Given the description of an element on the screen output the (x, y) to click on. 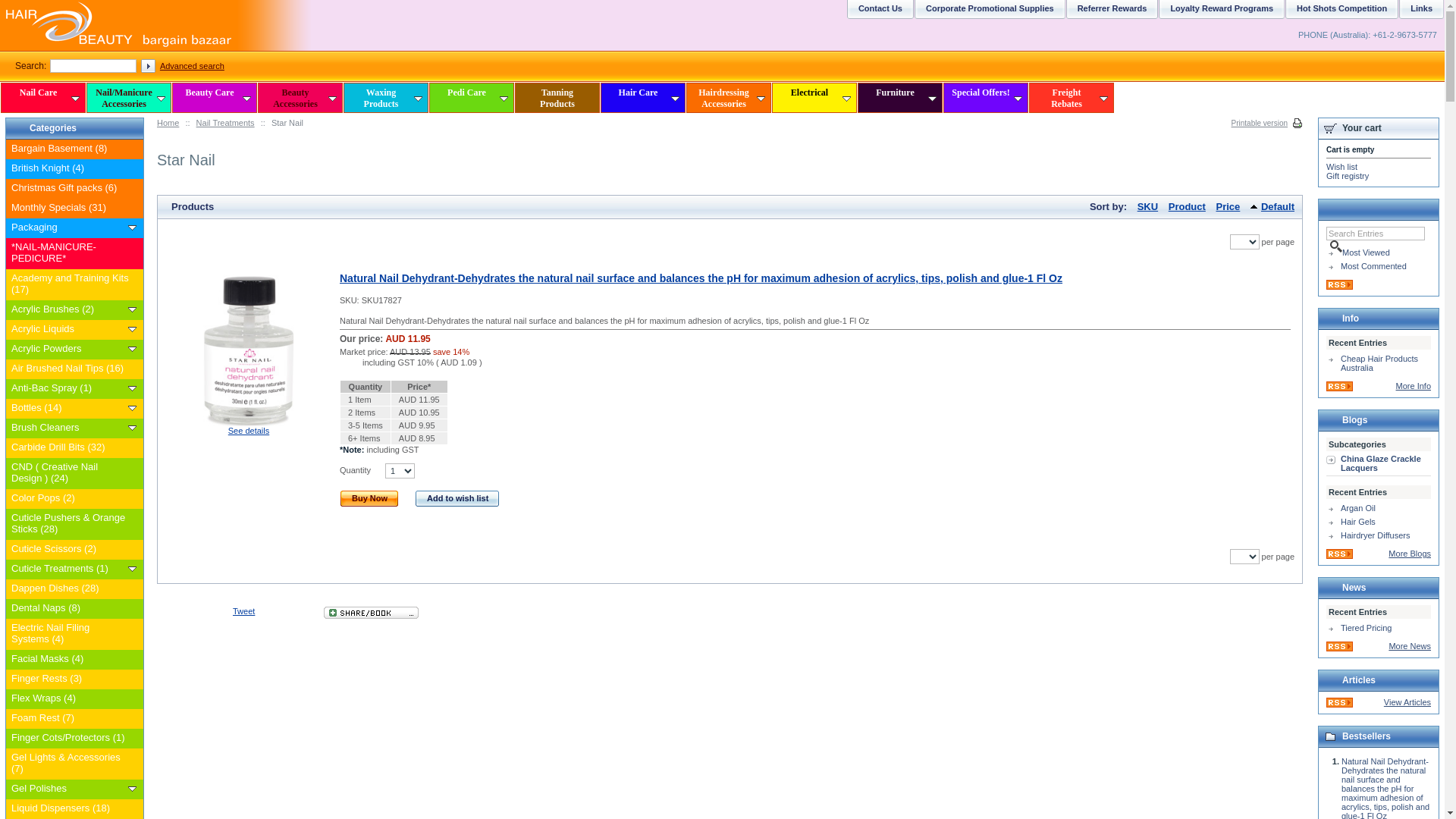
Nail/Manicure Accessories Element type: text (128, 97)
British Knight (4) Element type: text (69, 170)
Bottles (14) Element type: text (69, 409)
Facial Masks (4) Element type: text (69, 660)
Brush Cleaners Element type: hover (132, 427)
Freight Rebates Element type: text (1071, 97)
Finger Rests (3) Element type: text (69, 680)
Wish list Element type: text (1341, 166)
Gel Polishes Element type: text (69, 790)
Cuticle Treatments Element type: hover (132, 568)
Argan Oil Element type: text (1378, 508)
Bottles Element type: hover (132, 408)
Color Pops (2) Element type: text (69, 500)
Waxing Products Element type: text (385, 97)
Beauty Accessories Element type: text (300, 97)
Tiered Pricing Element type: text (1378, 627)
Academy and Training Kits (17) Element type: text (69, 286)
Cuticle Treatments (1) Element type: text (69, 570)
Hair Gels Element type: text (1378, 521)
Furniture Element type: text (899, 97)
Brush Cleaners Element type: text (69, 429)
Acrylic Brushes Element type: hover (132, 309)
Acrylic Liquids Element type: hover (132, 329)
Default Element type: text (1272, 206)
Air Brushed Nail Tips (16) Element type: text (69, 370)
RSS Feeds Element type: hover (1339, 704)
Advanced search Element type: text (192, 65)
Foam Rest (7) Element type: text (69, 720)
Contact Us Element type: text (878, 13)
Price Element type: text (1228, 206)
CND ( Creative Nail Design ) (24) Element type: text (69, 475)
Pedi Care Element type: text (471, 97)
More Blogs Element type: text (1409, 553)
More News Element type: text (1409, 645)
Hairdryer Diffusers Element type: text (1378, 535)
Anti-Bac Spray Element type: hover (132, 388)
More Info Element type: text (1413, 385)
RSS Feeds Element type: hover (1339, 555)
China Glaze Crackle Lacquers Element type: text (1378, 463)
Packaging Element type: text (69, 229)
Gel Lights & Accessories (7) Element type: text (69, 765)
Gift registry Element type: text (1347, 175)
Flex Wraps (4) Element type: text (69, 700)
Product Element type: text (1186, 206)
Most Commented Element type: text (1378, 266)
Cuticle Scissors (2) Element type: text (69, 550)
Cheap Hair Products Australia Element type: text (1378, 362)
Gel Polishes Element type: hover (132, 788)
Bargain Basement (8) Element type: text (69, 150)
Dental Naps (8) Element type: text (69, 610)
Corporate Promotional Supplies Element type: text (987, 13)
Dappen Dishes (28) Element type: text (69, 590)
View Articles Element type: text (1406, 701)
Finger Cots/Protectors (1) Element type: text (69, 739)
Beauty Care Element type: text (214, 97)
Hair Care Element type: text (642, 97)
Tweet Element type: text (243, 610)
*NAIL-MANICURE-PEDICURE* Element type: text (69, 255)
Acrylic Powders Element type: text (69, 350)
Nail Treatments Element type: text (225, 122)
Loyalty Reward Programs Element type: text (1219, 13)
RSS Feeds Element type: hover (1339, 387)
Electrical Element type: text (814, 97)
Home Element type: text (167, 122)
Hairdressing Accessories Element type: text (728, 97)
Referrer Rewards Element type: text (1110, 13)
Christmas Gift packs (6) Element type: text (69, 190)
Carbide Drill Bits (32) Element type: text (69, 449)
Cuticle Pushers & Orange Sticks (28) Element type: text (69, 525)
Acrylic Liquids Element type: text (69, 331)
RSS Feeds Element type: hover (1339, 286)
Tanning Products Element type: text (557, 97)
Most Viewed Element type: text (1378, 252)
RSS Feeds Element type: hover (1339, 647)
Nail Care Element type: text (42, 97)
Acrylic Powders Element type: hover (132, 348)
Electric Nail Filing Systems (4) Element type: text (69, 635)
Hot Shots Competition Element type: text (1339, 13)
Special Offers! Element type: text (985, 97)
Add to wish list Element type: text (457, 498)
See details Element type: text (248, 430)
Links Element type: text (1419, 13)
Anti-Bac Spray (1) Element type: text (69, 390)
Monthly Specials (31) Element type: text (69, 209)
Printable version Element type: text (1266, 122)
SKU Element type: text (1147, 206)
Buy Now Element type: text (369, 498)
Acrylic Brushes (2) Element type: text (69, 311)
